Given the description of an element on the screen output the (x, y) to click on. 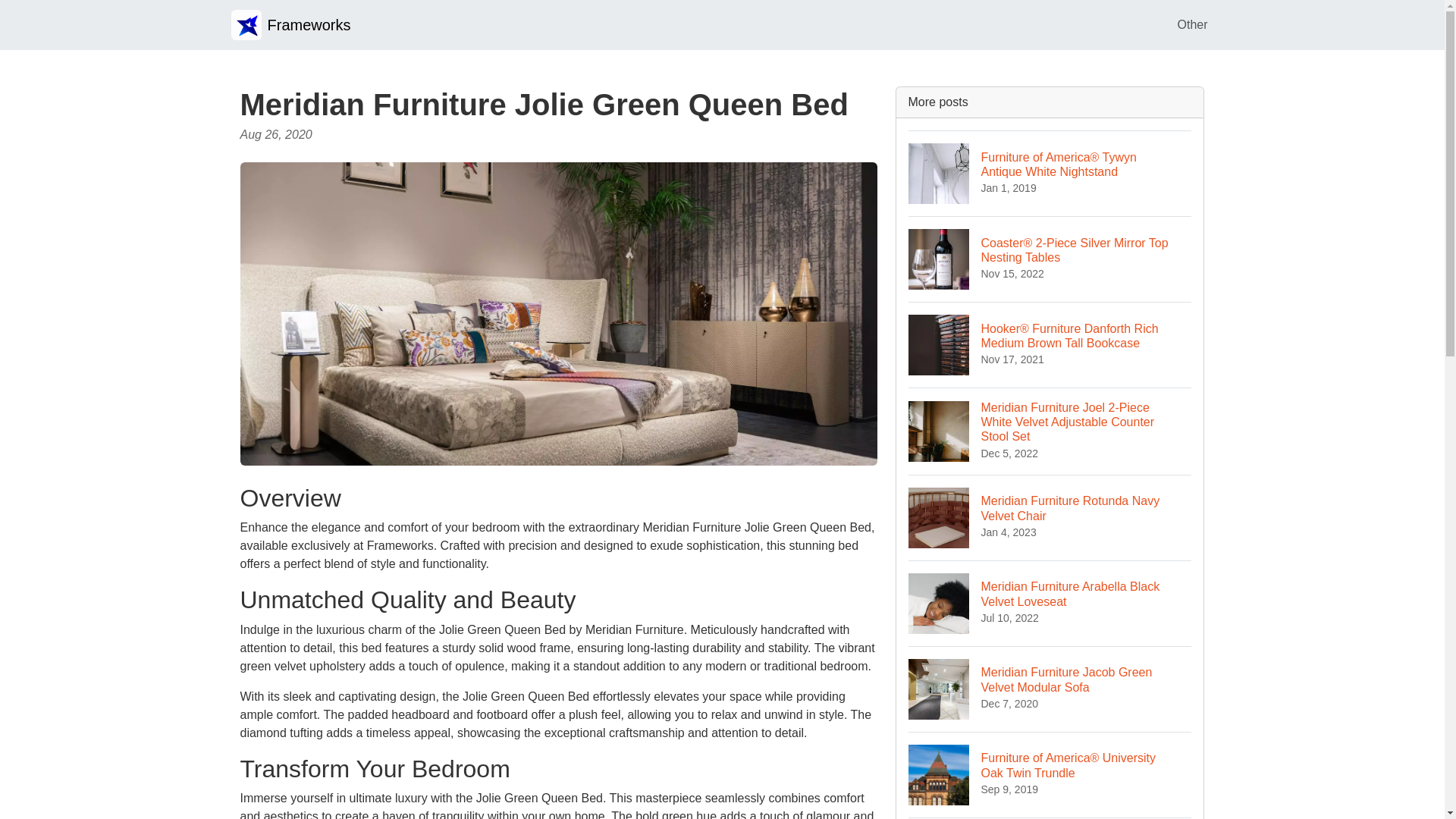
Other (1050, 517)
Frameworks (1191, 24)
